Given the description of an element on the screen output the (x, y) to click on. 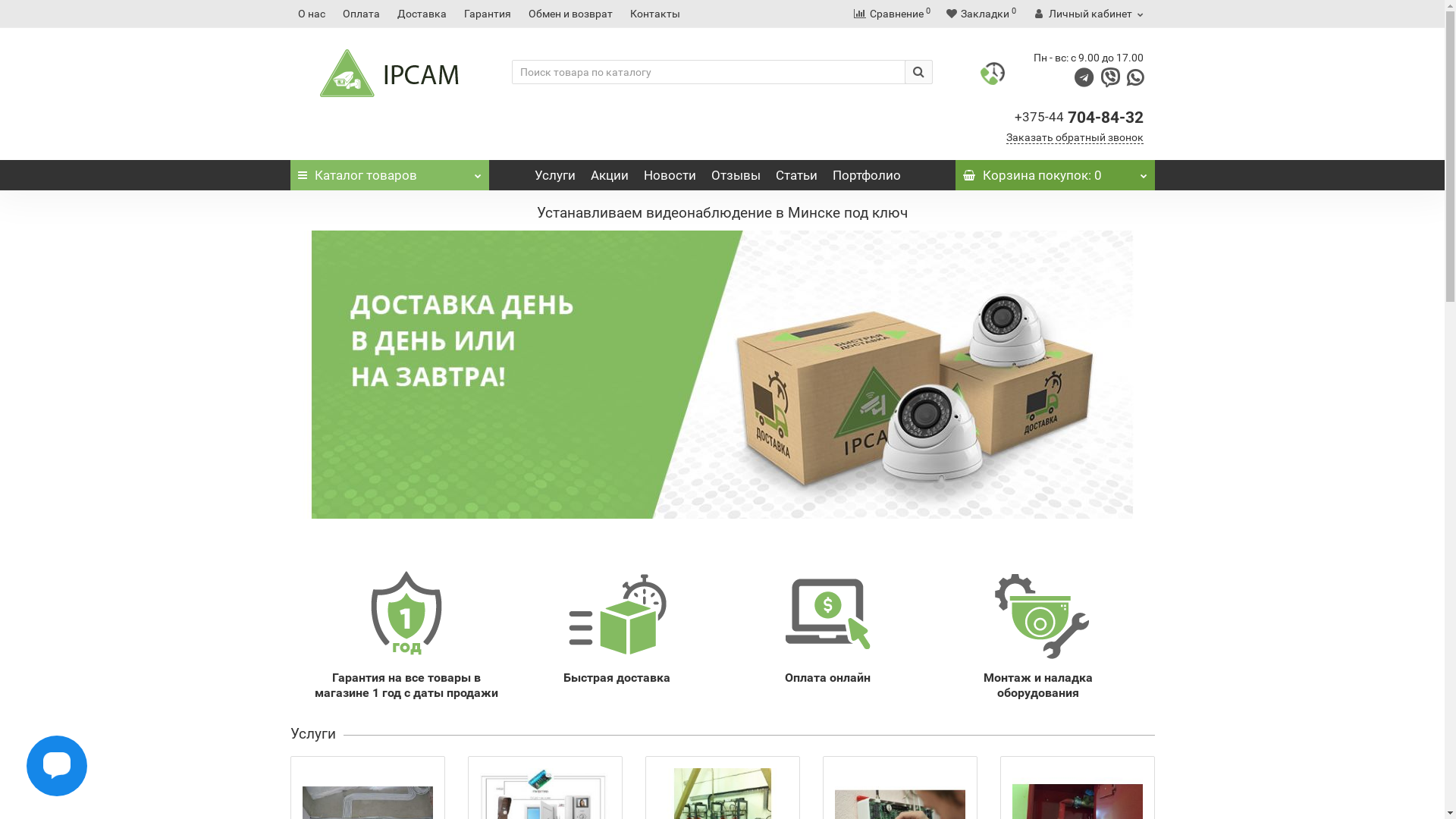
704-84-32 Element type: text (1105, 117)
